Given the description of an element on the screen output the (x, y) to click on. 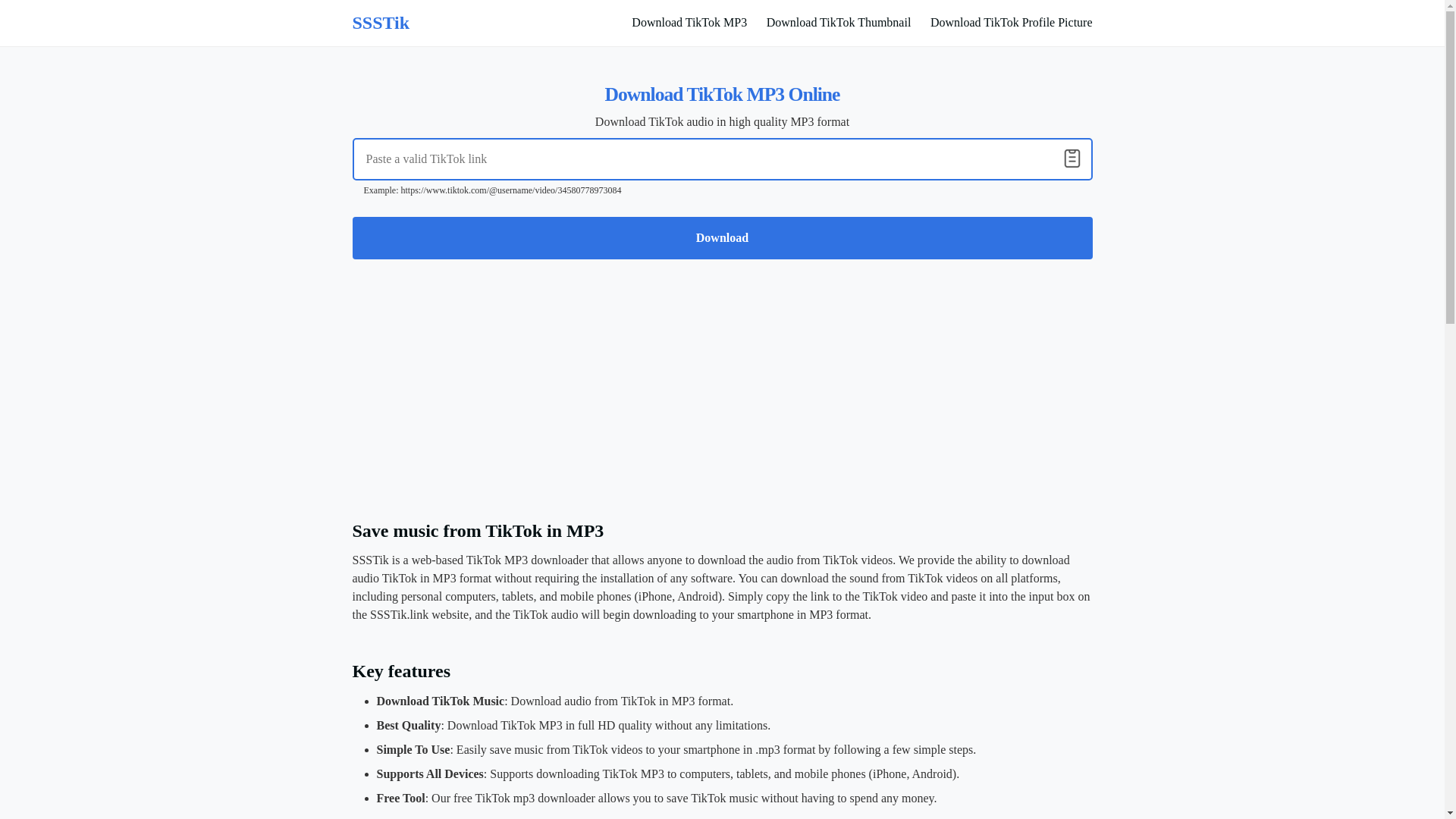
Download TikTok Thumbnail (839, 22)
Download TikTok Profile Picture (1011, 22)
Download TikTok MP3 (688, 22)
SSSTik (380, 23)
Download TikTok Thumbnail (839, 22)
Download TikTok Profile Picture (1011, 22)
SSSTikTok (380, 23)
Download TikTok MP3 (688, 22)
Download (722, 238)
